Given the description of an element on the screen output the (x, y) to click on. 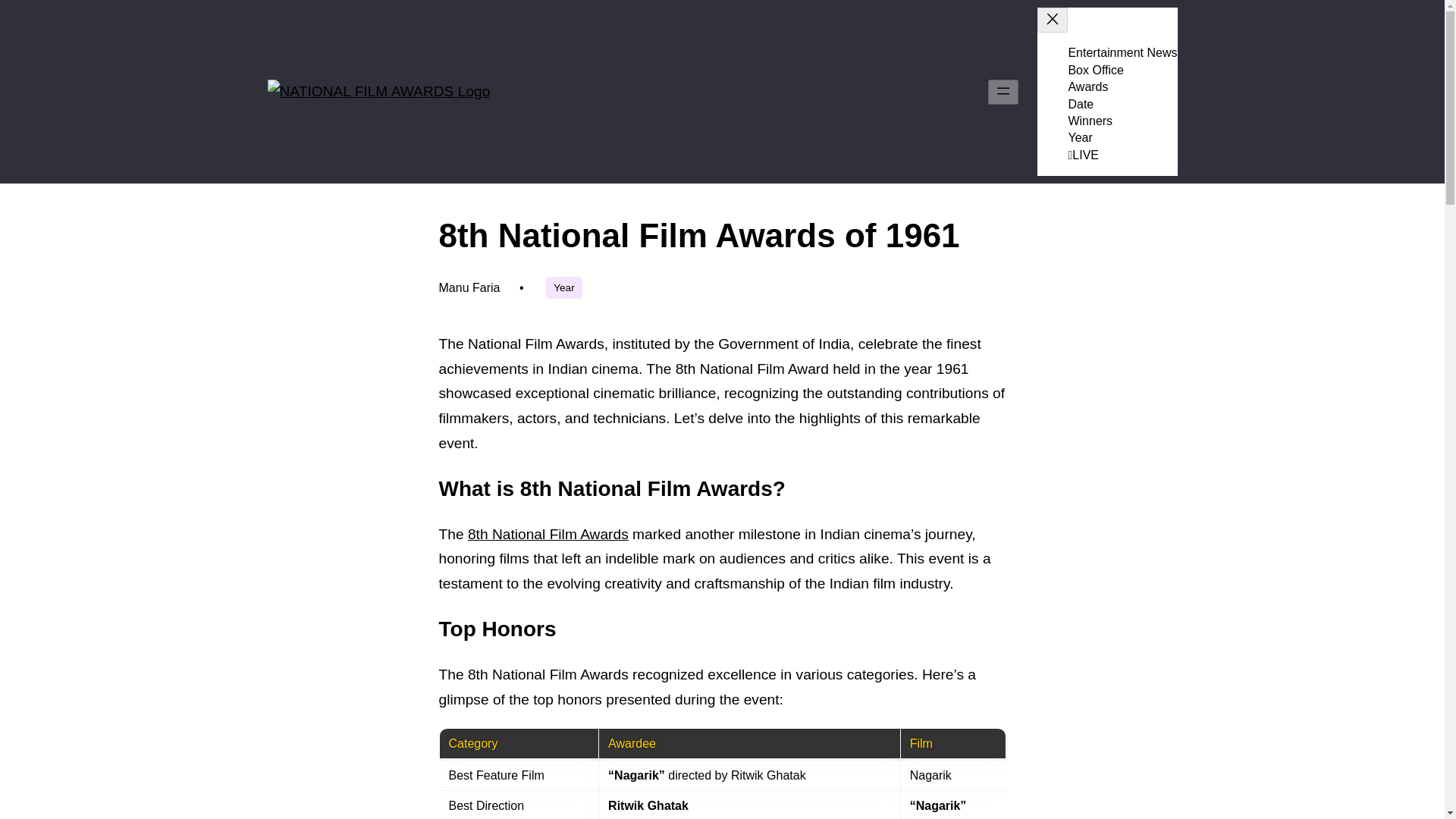
Awards (1087, 86)
Year (1079, 137)
Year (563, 287)
Winners (1089, 120)
8th National Film Awards (547, 534)
Date (1080, 103)
Entertainment News (1121, 51)
Box Office (1095, 69)
